Given the description of an element on the screen output the (x, y) to click on. 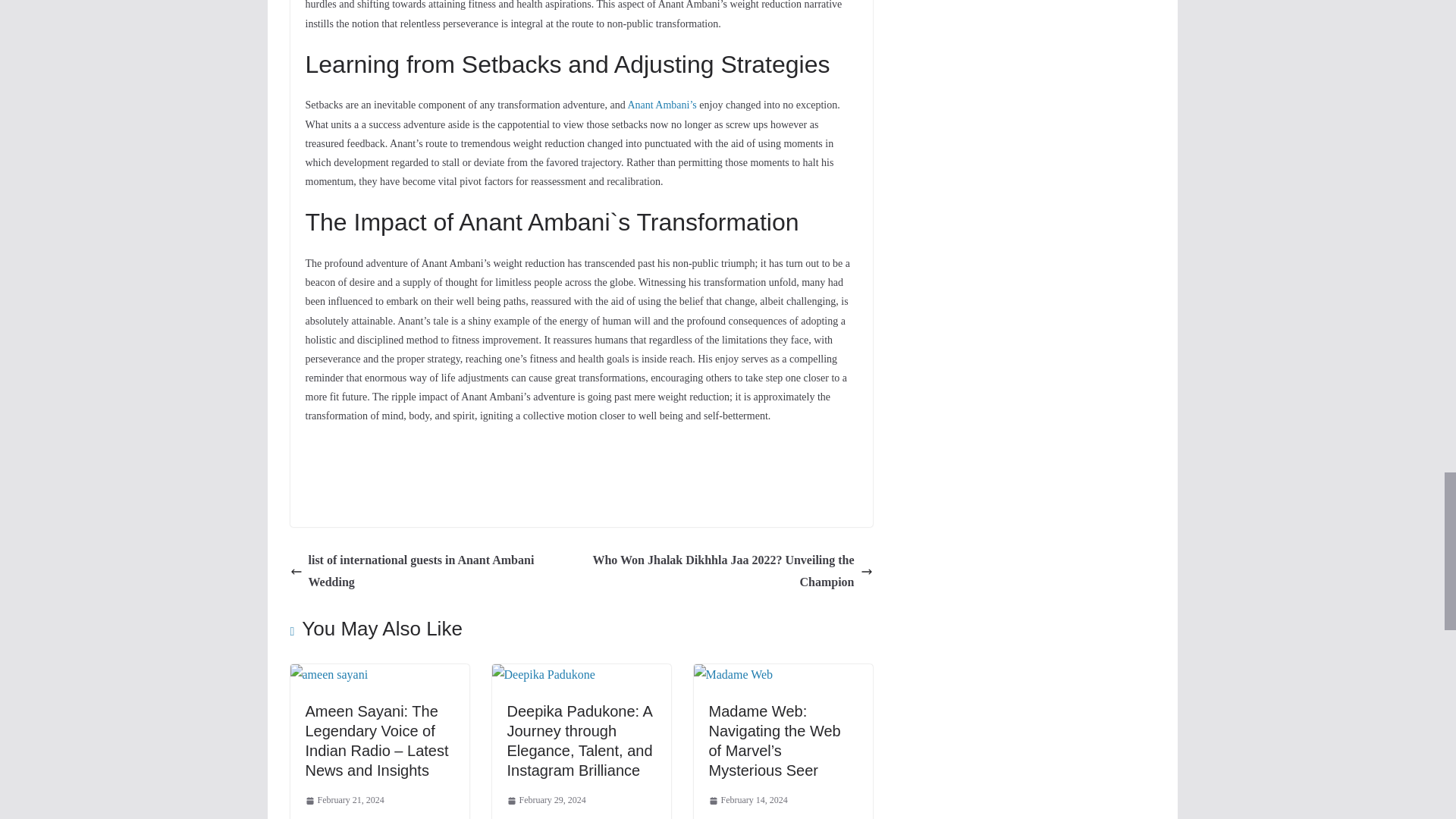
11:47 am (344, 800)
list of international guests in Anant Ambani Wedding (431, 571)
